Given the description of an element on the screen output the (x, y) to click on. 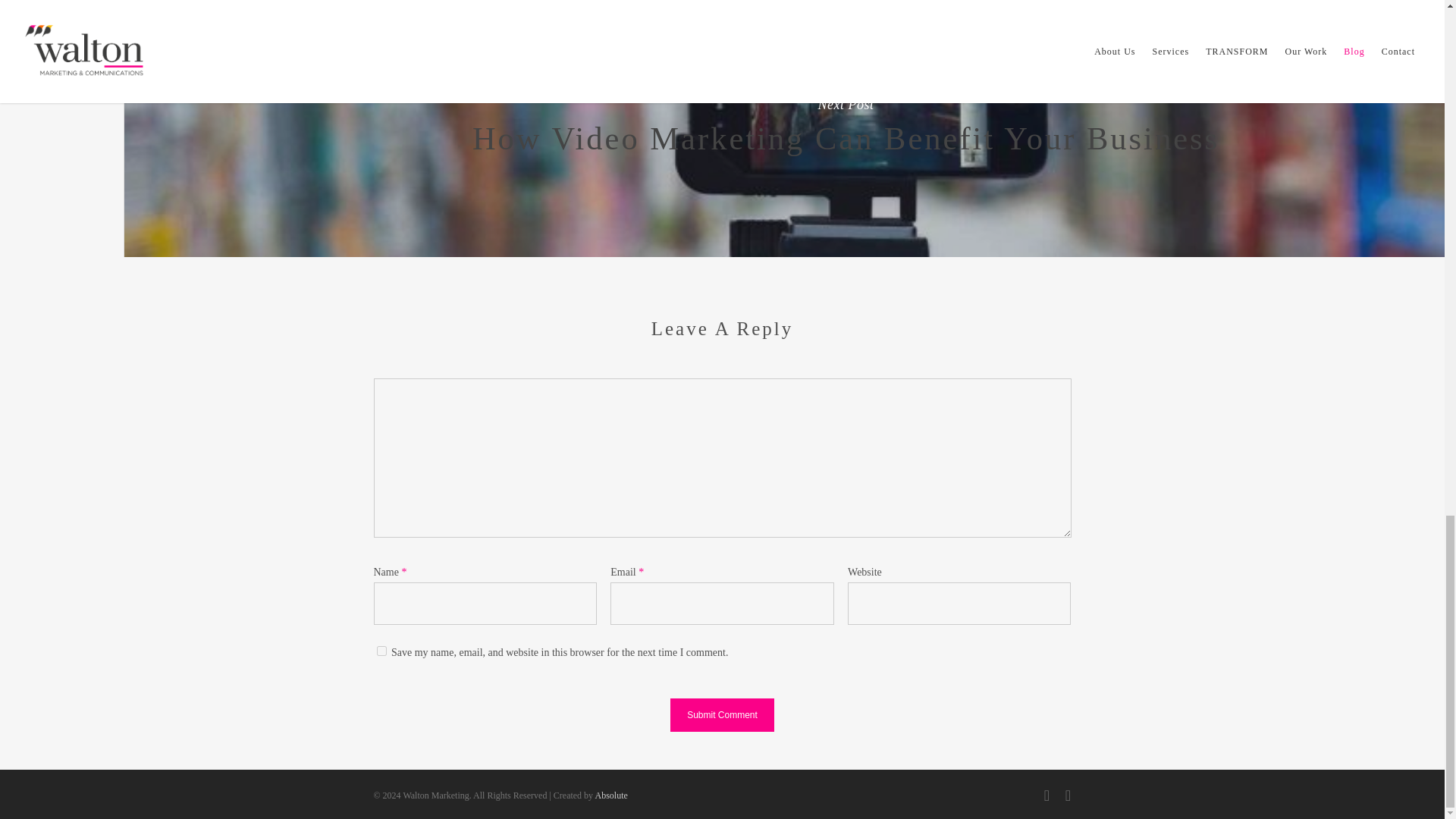
Submit Comment (721, 715)
yes (380, 651)
Submit Comment (721, 715)
Absolute (610, 795)
